Given the description of an element on the screen output the (x, y) to click on. 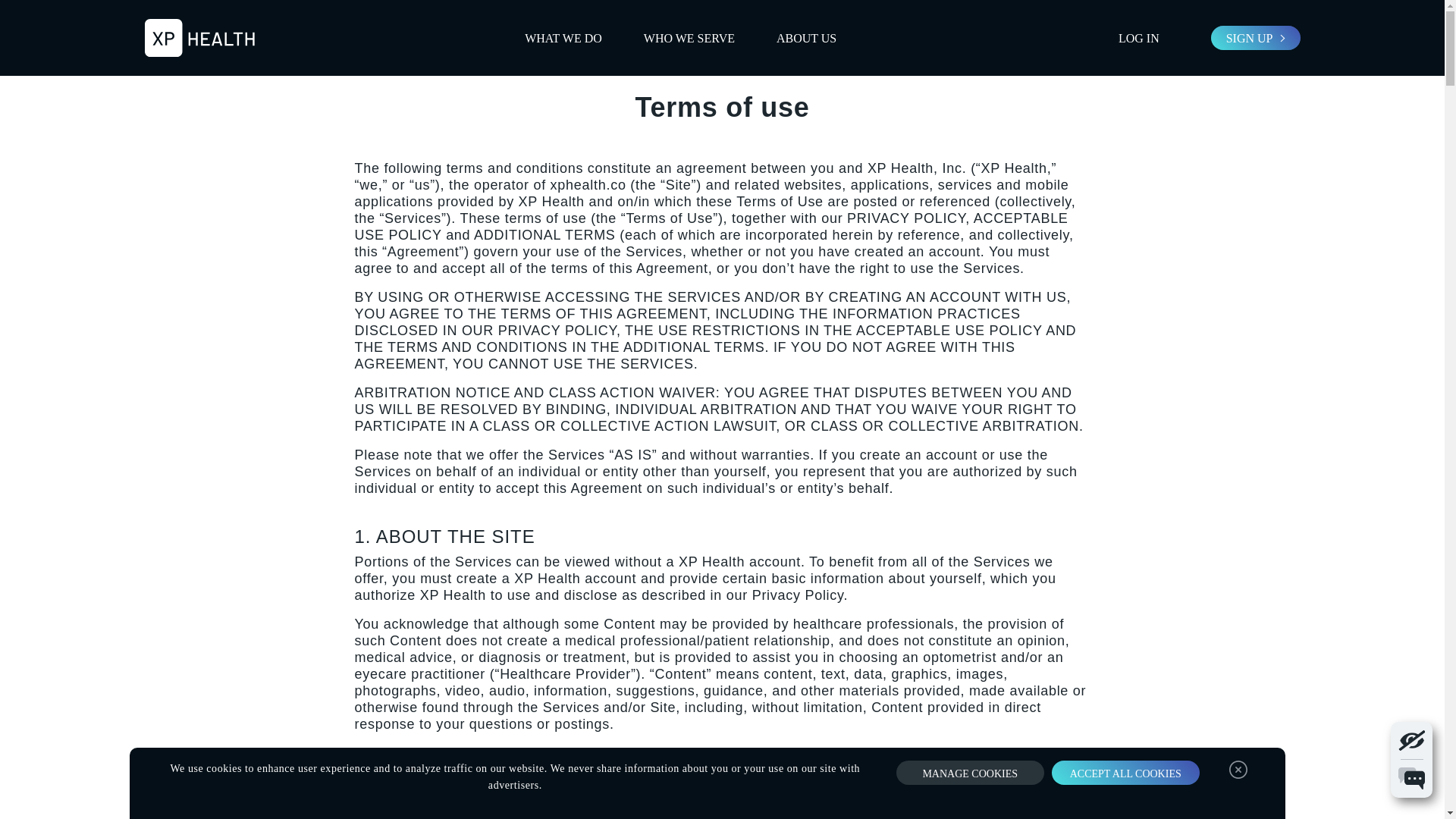
WHAT WE DO (563, 37)
ACCEPT ALL COOKIES (1125, 772)
LOG IN (1138, 37)
WHO WE SERVE (689, 37)
ABOUT US (805, 37)
MANAGE COOKIES (969, 772)
